Given the description of an element on the screen output the (x, y) to click on. 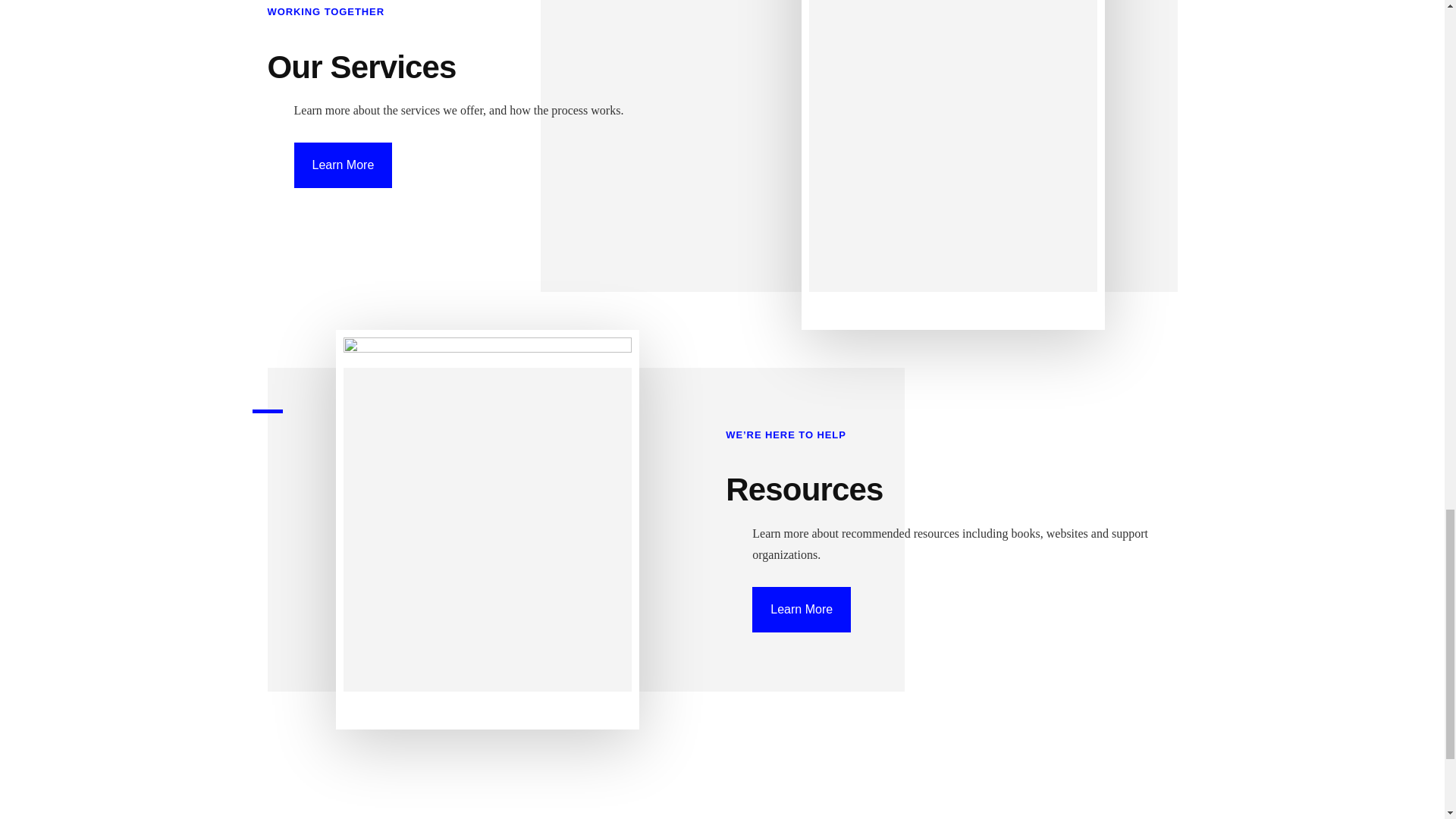
Our Services (360, 67)
Learn More (801, 609)
Resources (803, 488)
Learn More (343, 165)
